Given the description of an element on the screen output the (x, y) to click on. 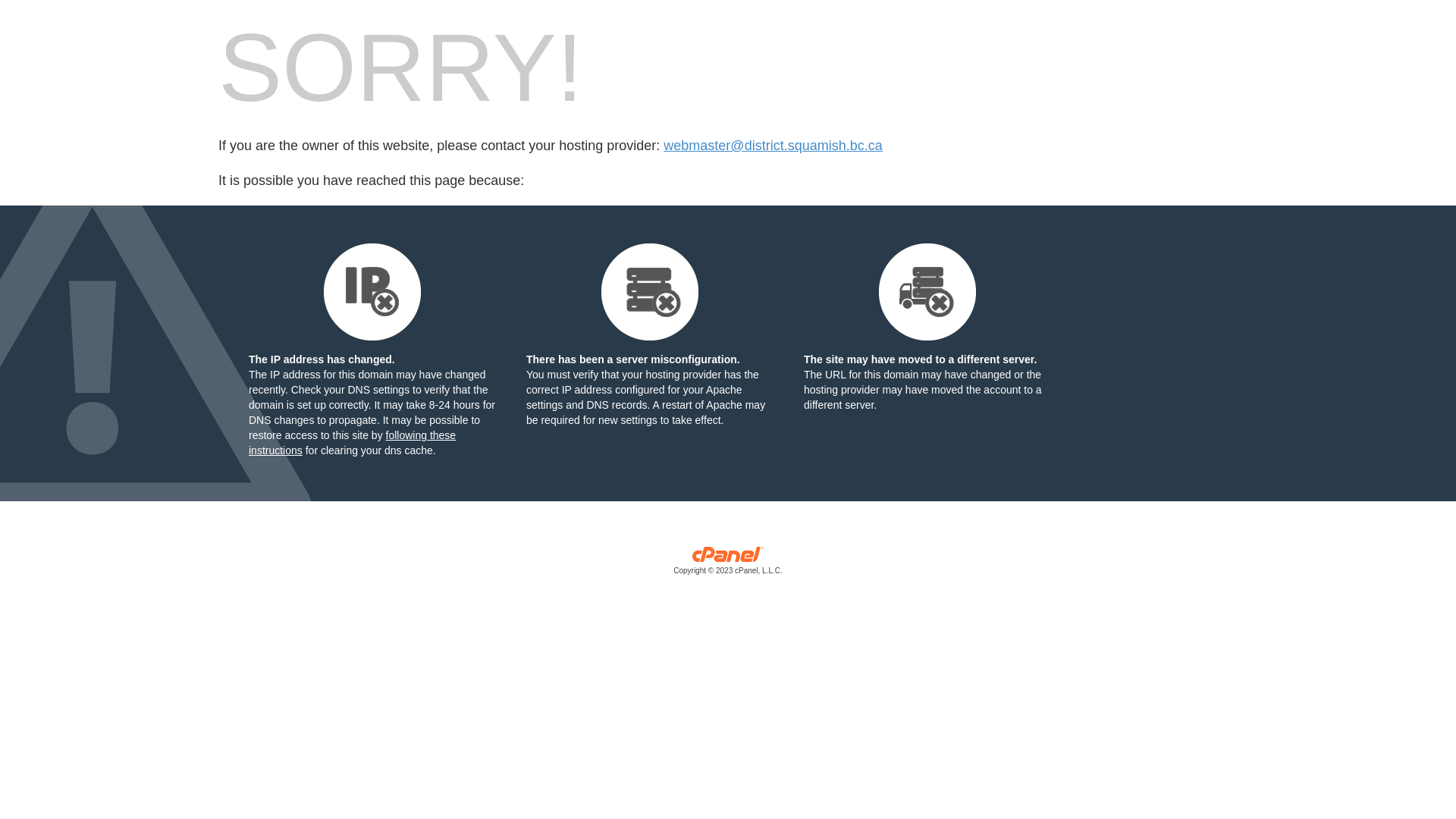
webmaster@district.squamish.bc.ca Element type: text (772, 145)
following these instructions Element type: text (351, 442)
